Given the description of an element on the screen output the (x, y) to click on. 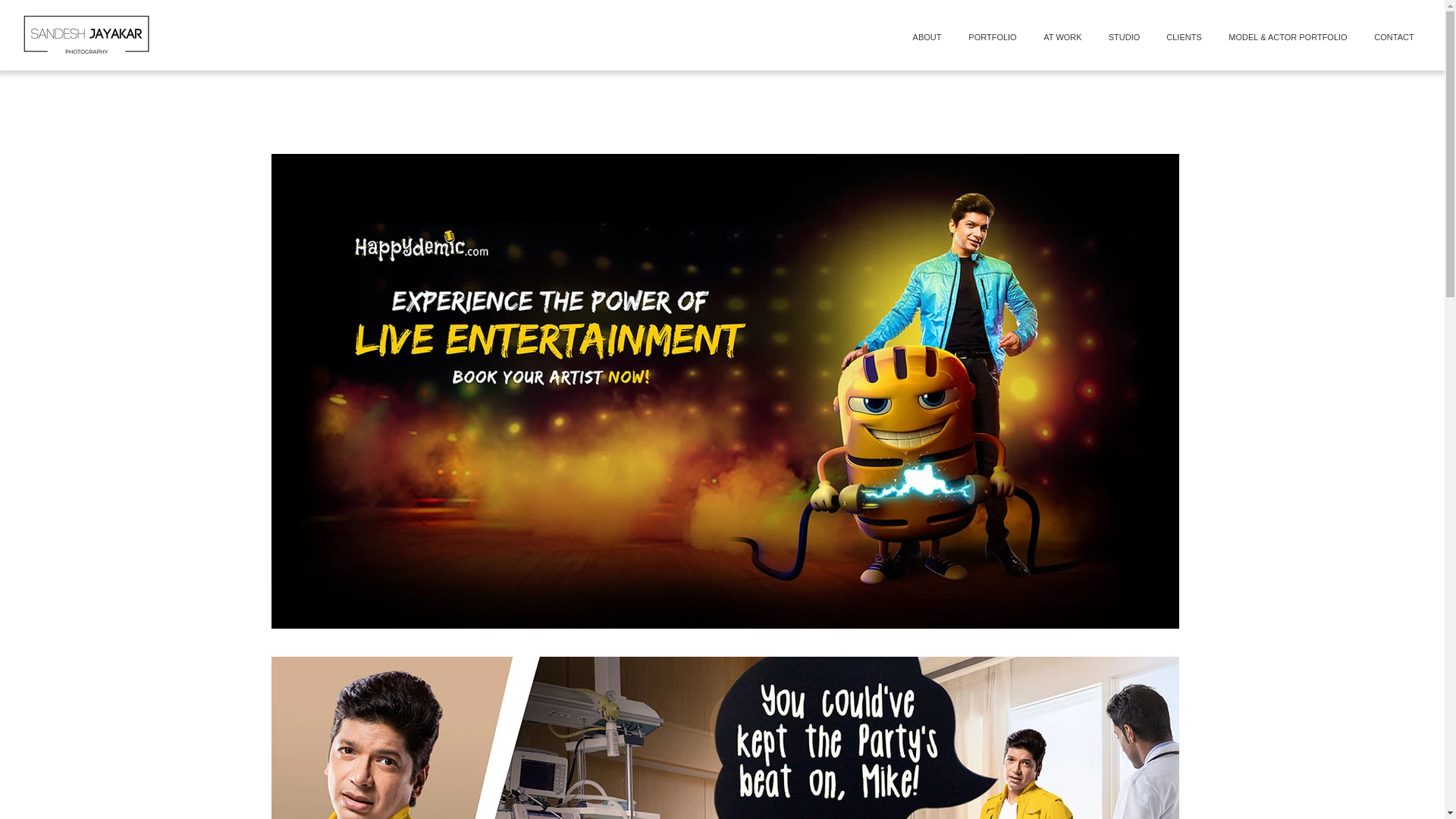
CLIENTS (1183, 37)
AT WORK (1062, 37)
CONTACT (1394, 37)
PORTFOLIO (992, 37)
STUDIO (1123, 37)
ABOUT (927, 37)
